Given the description of an element on the screen output the (x, y) to click on. 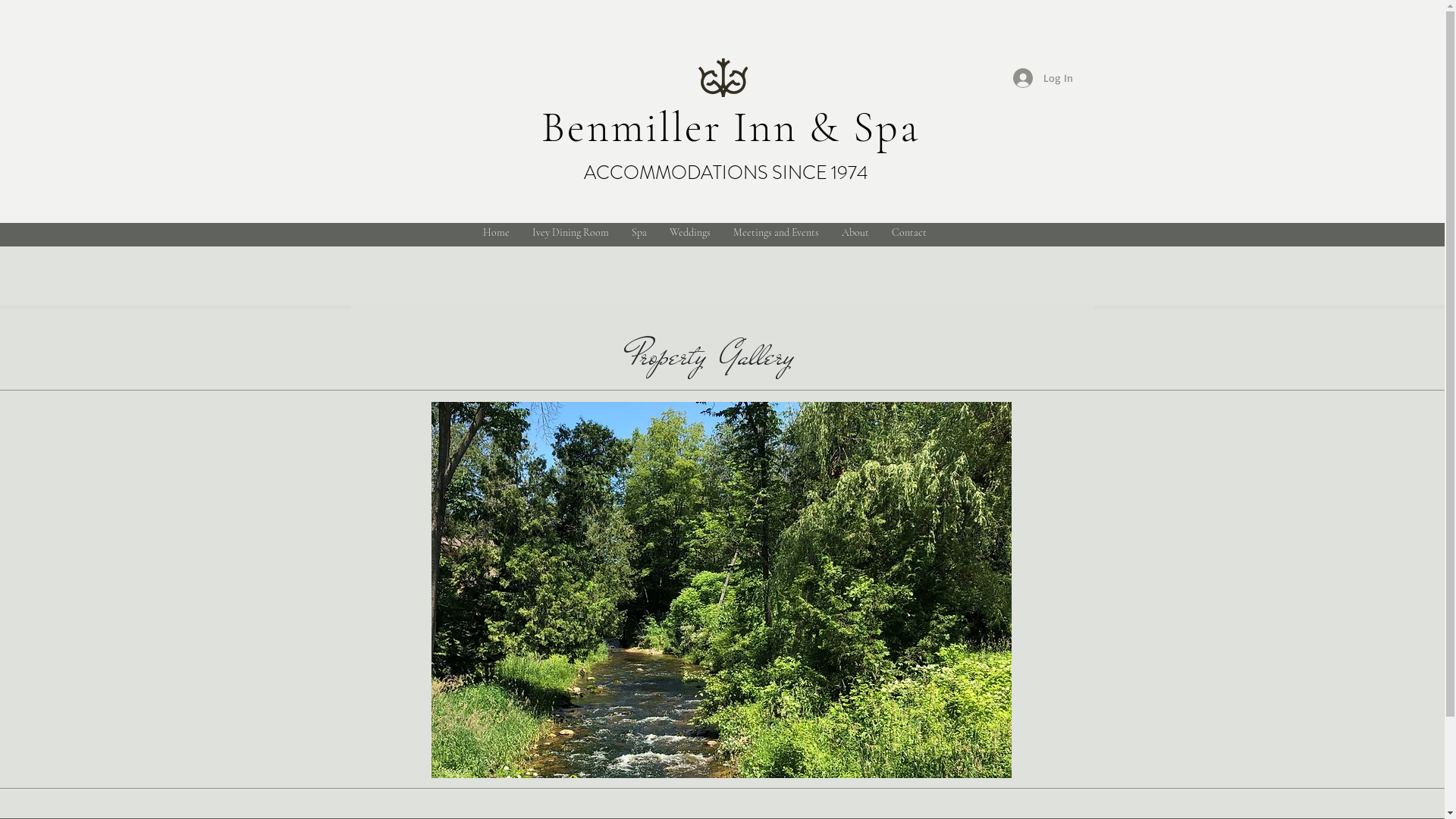
Home Element type: text (495, 231)
Weddings Element type: text (689, 231)
Log In Element type: text (1042, 77)
About Element type: text (854, 231)
Meetings and Events Element type: text (775, 231)
Spa Element type: text (639, 231)
Ivey Dining Room Element type: text (569, 231)
Contact Element type: text (908, 231)
